Given the description of an element on the screen output the (x, y) to click on. 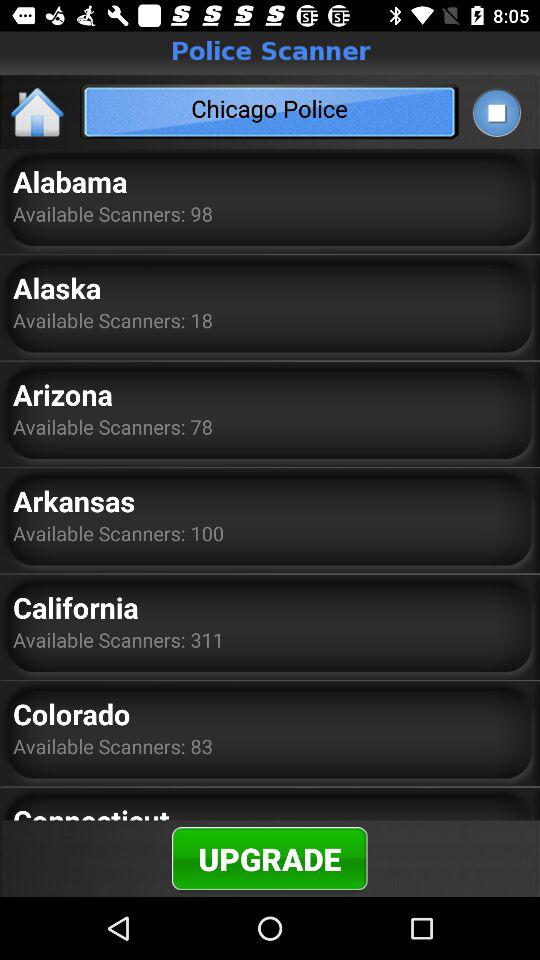
turn off icon at the top right corner (496, 111)
